Given the description of an element on the screen output the (x, y) to click on. 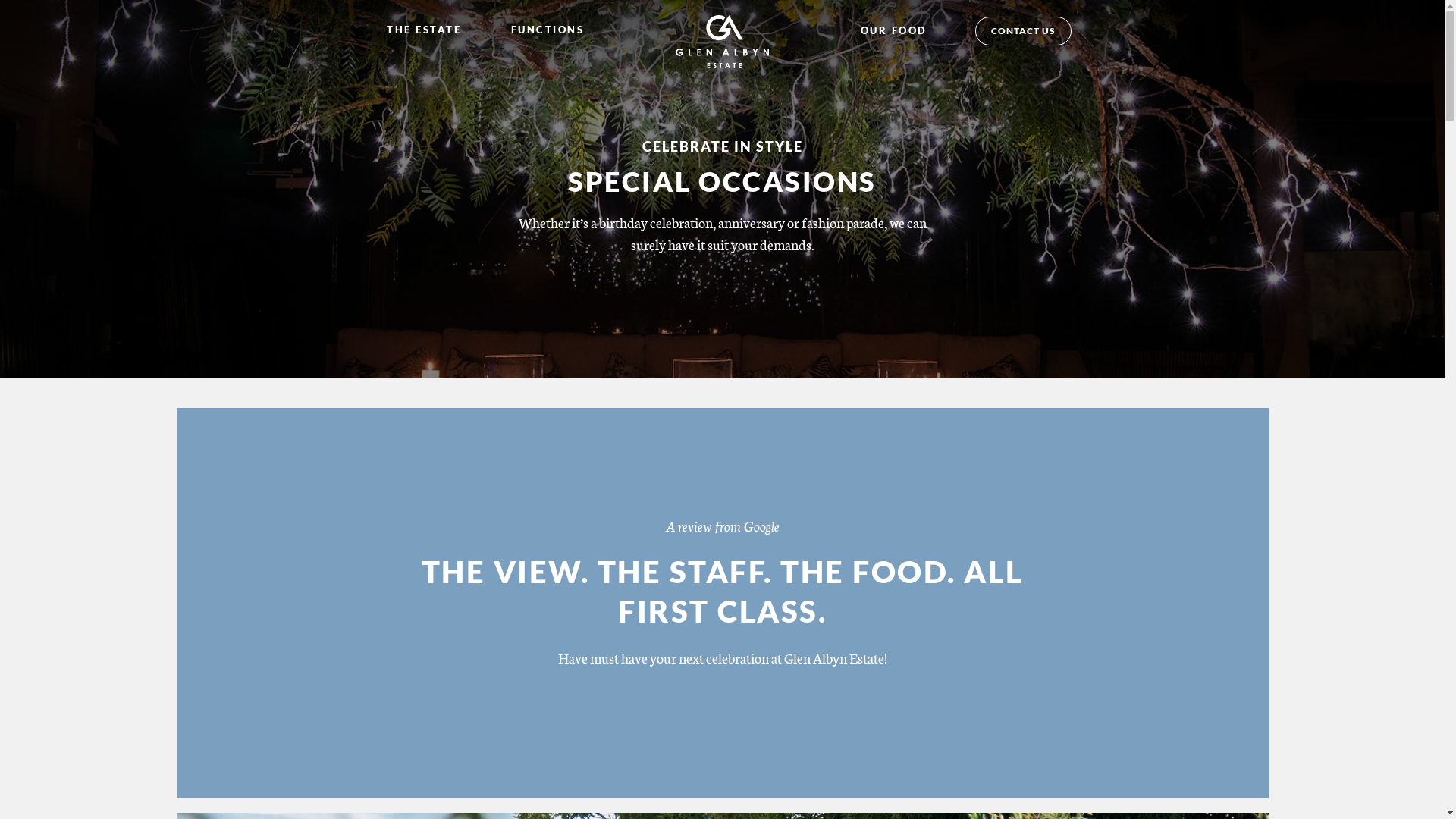
OUR FOOD Element type: text (896, 30)
THE ESTATE Element type: text (426, 29)
CONTACT US Element type: text (1023, 30)
FUNCTIONS Element type: text (547, 29)
